Given the description of an element on the screen output the (x, y) to click on. 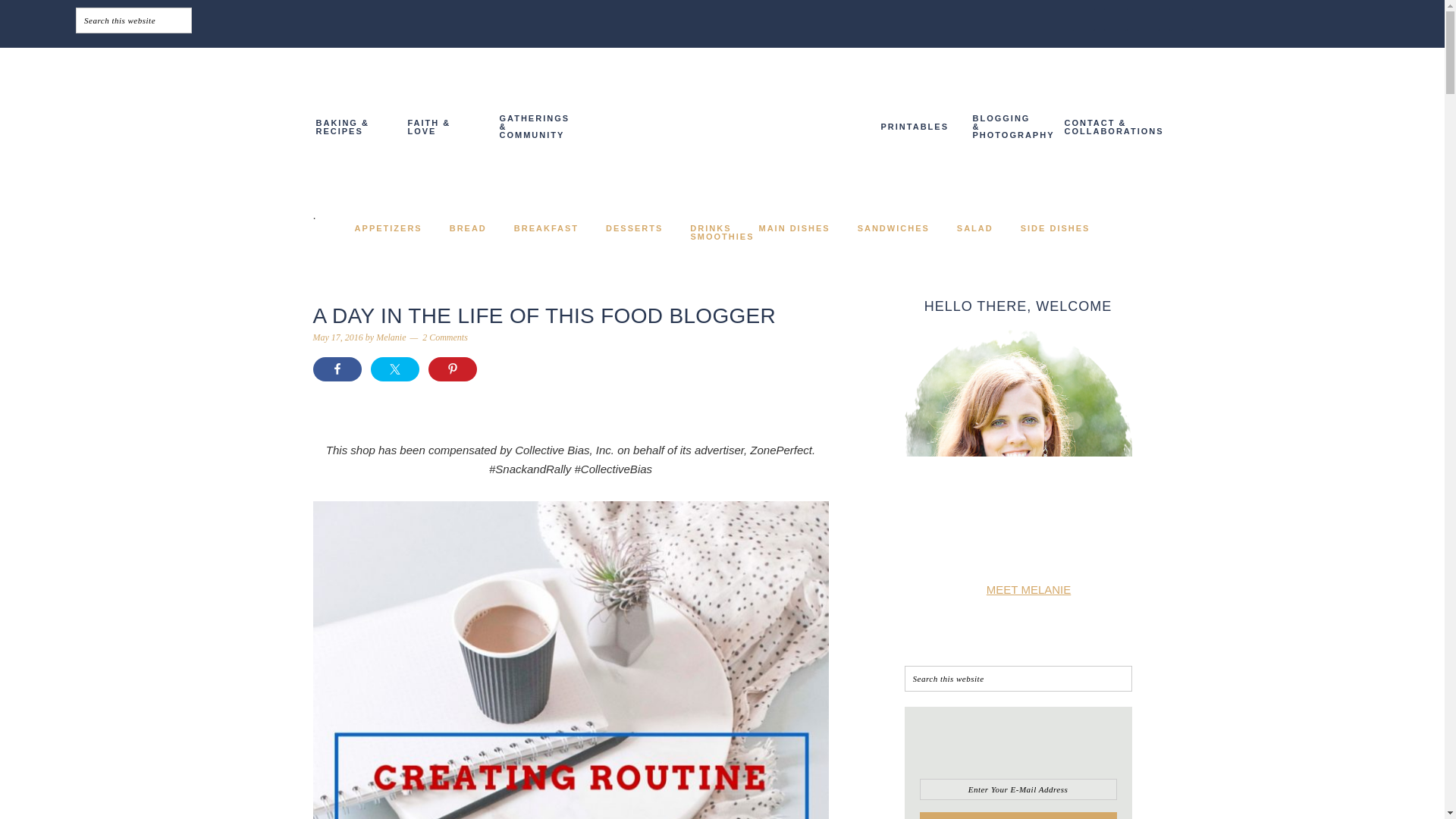
BREAKFAST (546, 228)
PRINTABLES (913, 126)
Share on Facebook (337, 369)
SALAD (975, 228)
Share on Pinterest (452, 369)
APPETIZERS (387, 228)
SMOOTHIES (722, 236)
